Given the description of an element on the screen output the (x, y) to click on. 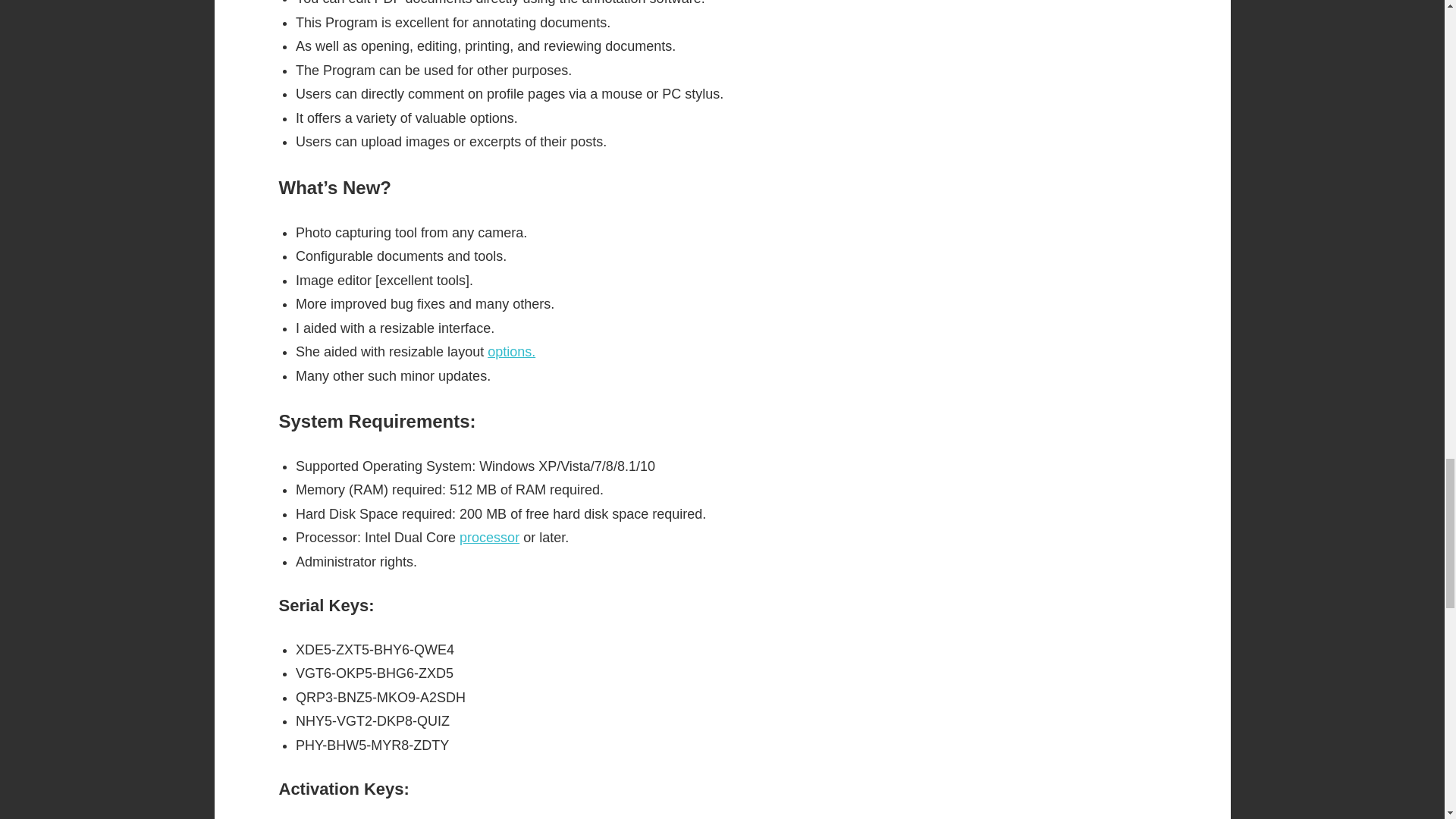
options. (511, 351)
processor (489, 537)
